Given the description of an element on the screen output the (x, y) to click on. 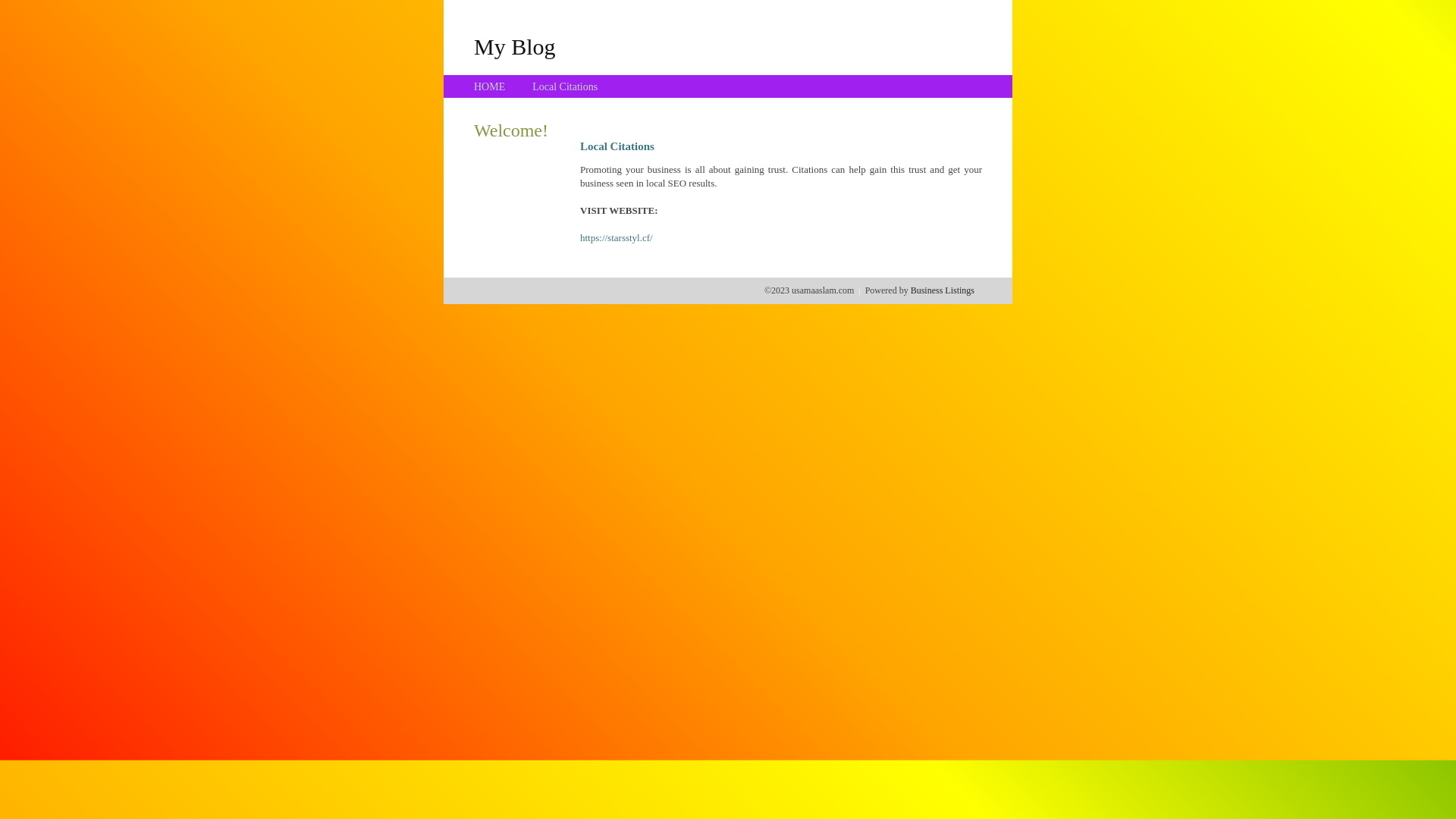
HOME Element type: text (489, 86)
Local Citations Element type: text (564, 86)
My Blog Element type: text (514, 46)
Business Listings Element type: text (942, 290)
https://starsstyl.cf/ Element type: text (616, 237)
